Given the description of an element on the screen output the (x, y) to click on. 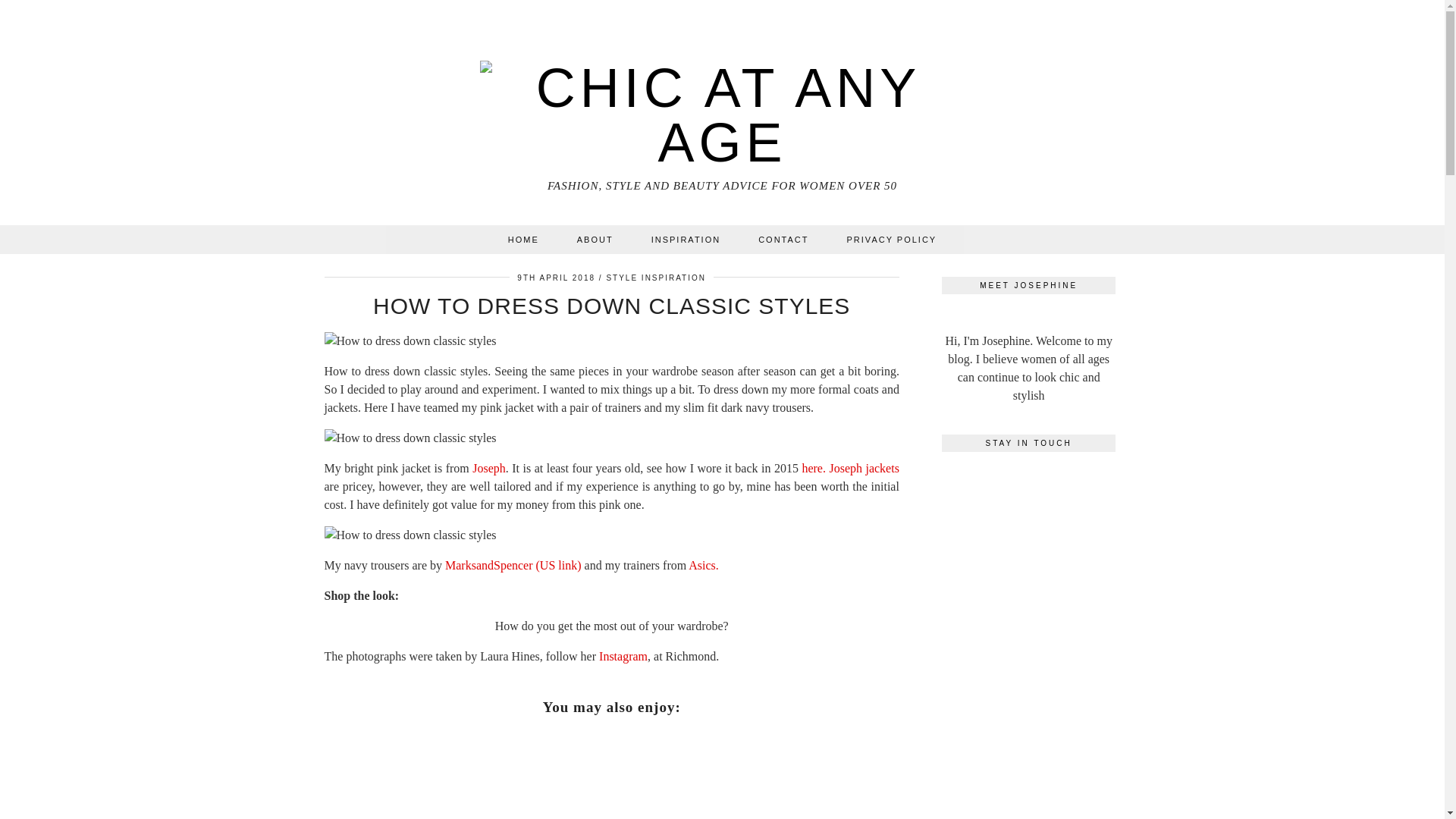
How to dress down classic styles (410, 535)
Joseph jackets (863, 467)
CONTACT (783, 238)
Chic at any age (722, 103)
ABOUT (594, 238)
How to dress down classic styles (410, 438)
here. (813, 467)
Asics.  (705, 563)
MarksandSpencer (488, 563)
How to dress down classic styles (410, 341)
